Given the description of an element on the screen output the (x, y) to click on. 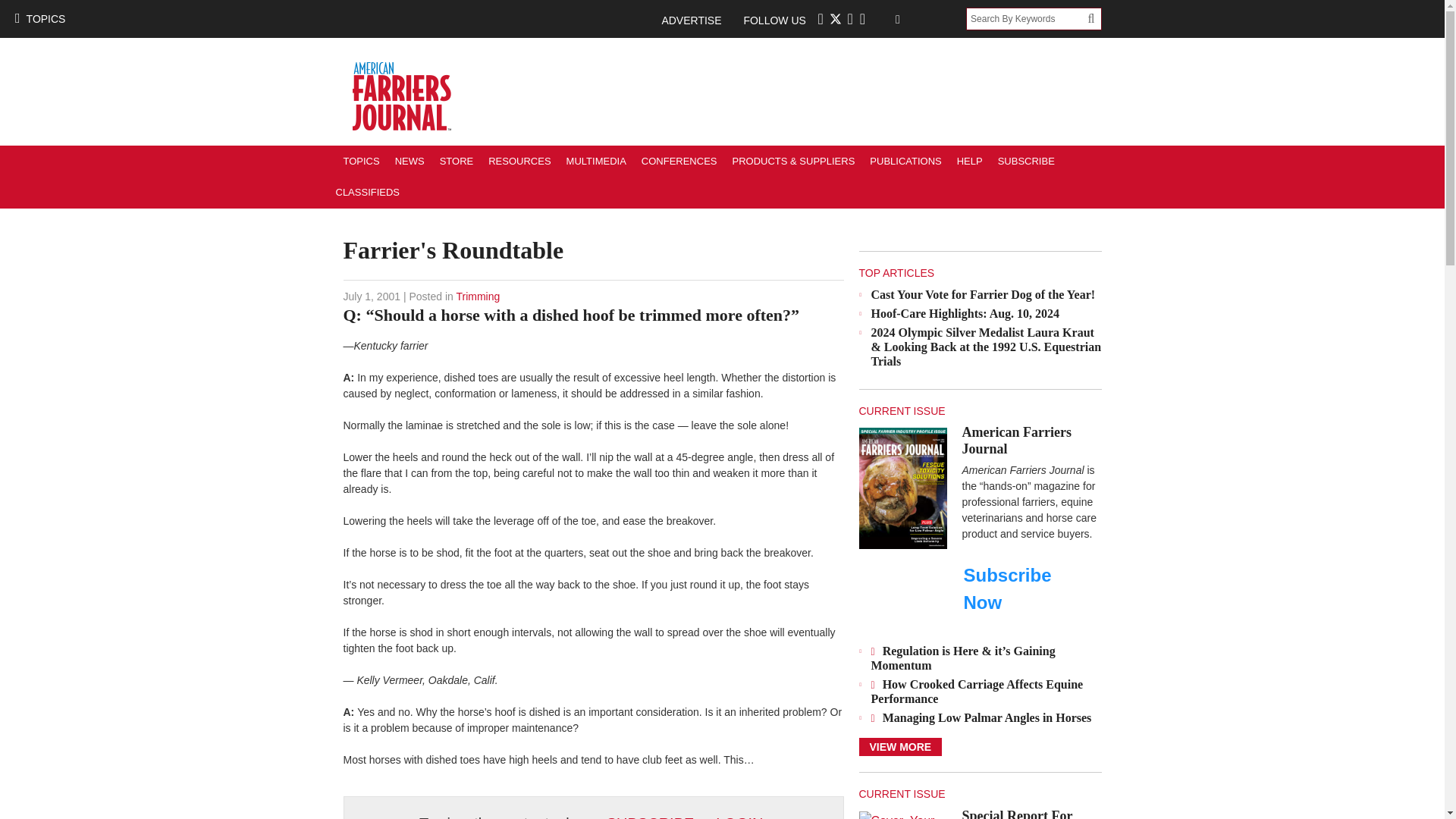
ADVERTISE (698, 20)
American Farriers Journal (903, 486)
Search By Keywords (1026, 18)
Hoof-Care Highlights: Aug. 10, 2024 (964, 313)
Search By Keywords (1026, 18)
TOPICS (39, 18)
Cast Your Vote for Farrier Dog of the Year! (982, 294)
TOPICS (360, 160)
